Given the description of an element on the screen output the (x, y) to click on. 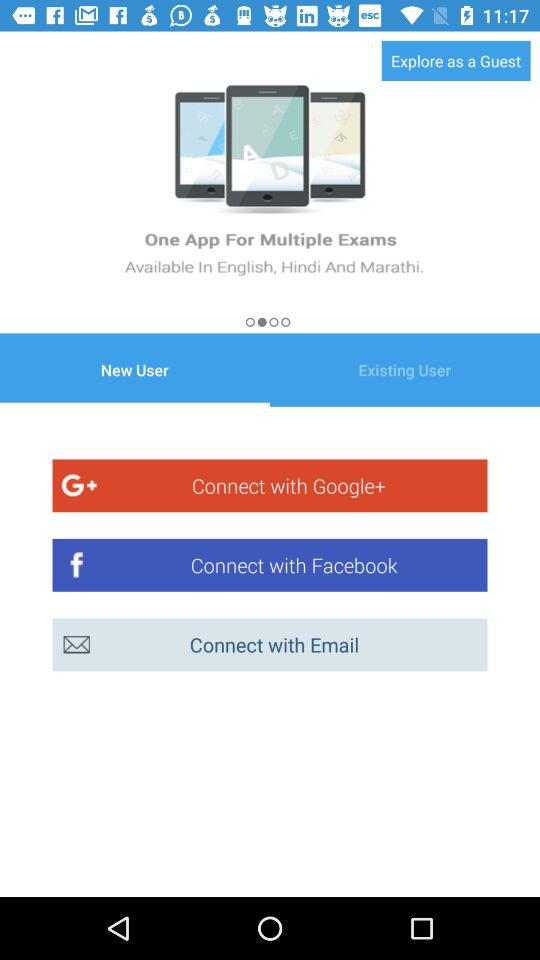
turn on explore as a item (455, 60)
